Given the description of an element on the screen output the (x, y) to click on. 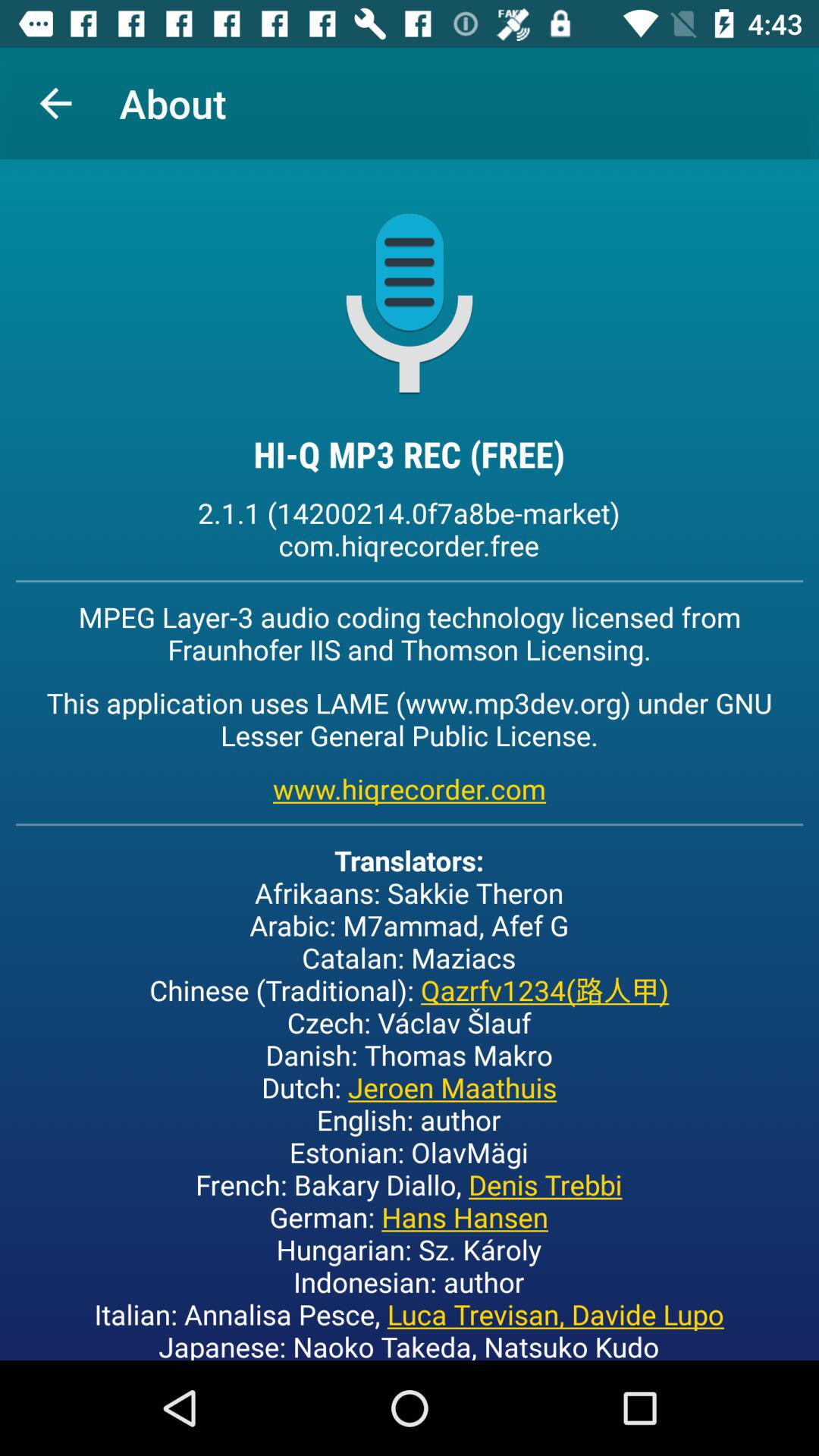
choose item to the left of about item (55, 103)
